Given the description of an element on the screen output the (x, y) to click on. 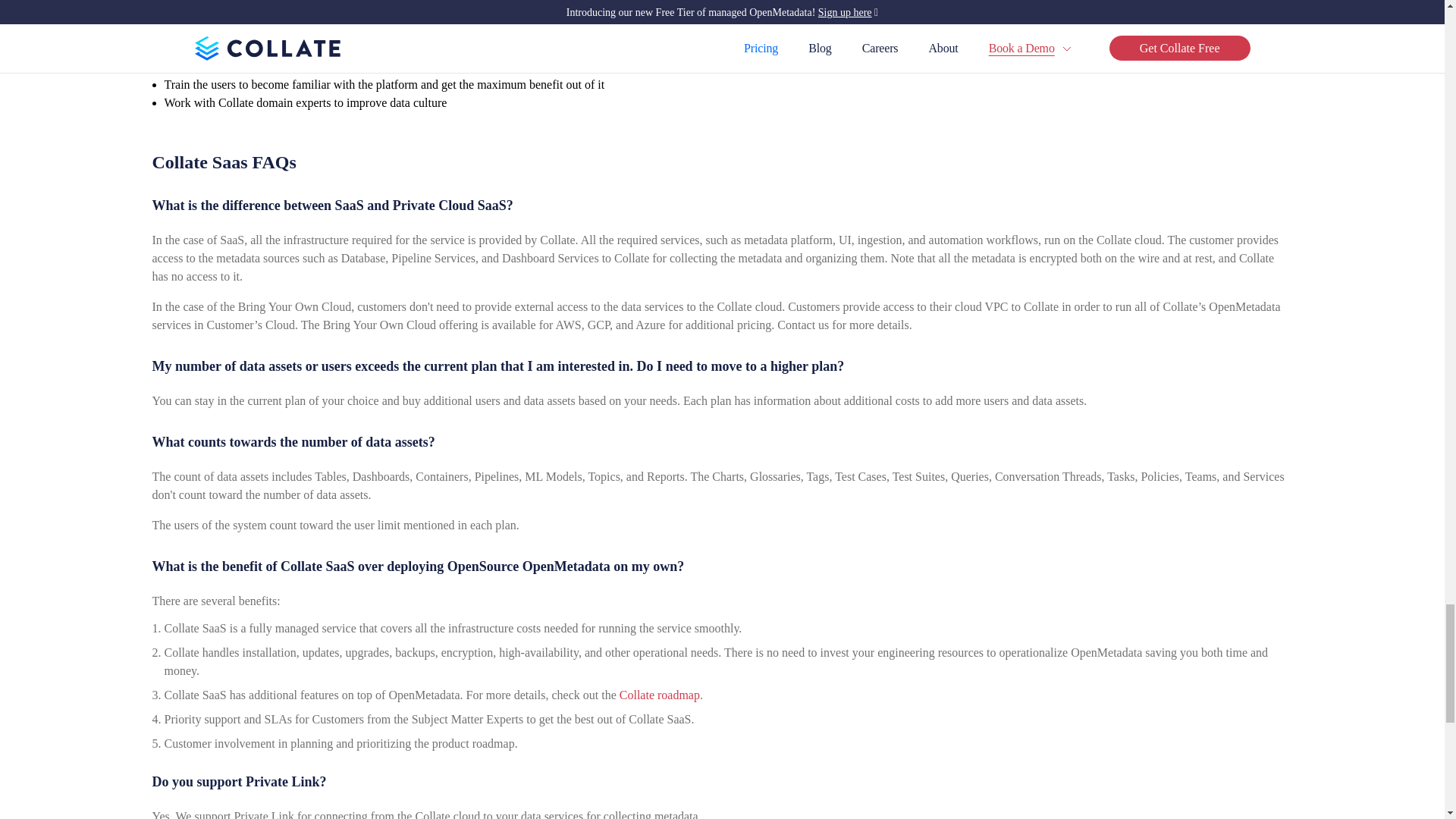
Collate roadmap (660, 694)
